Given the description of an element on the screen output the (x, y) to click on. 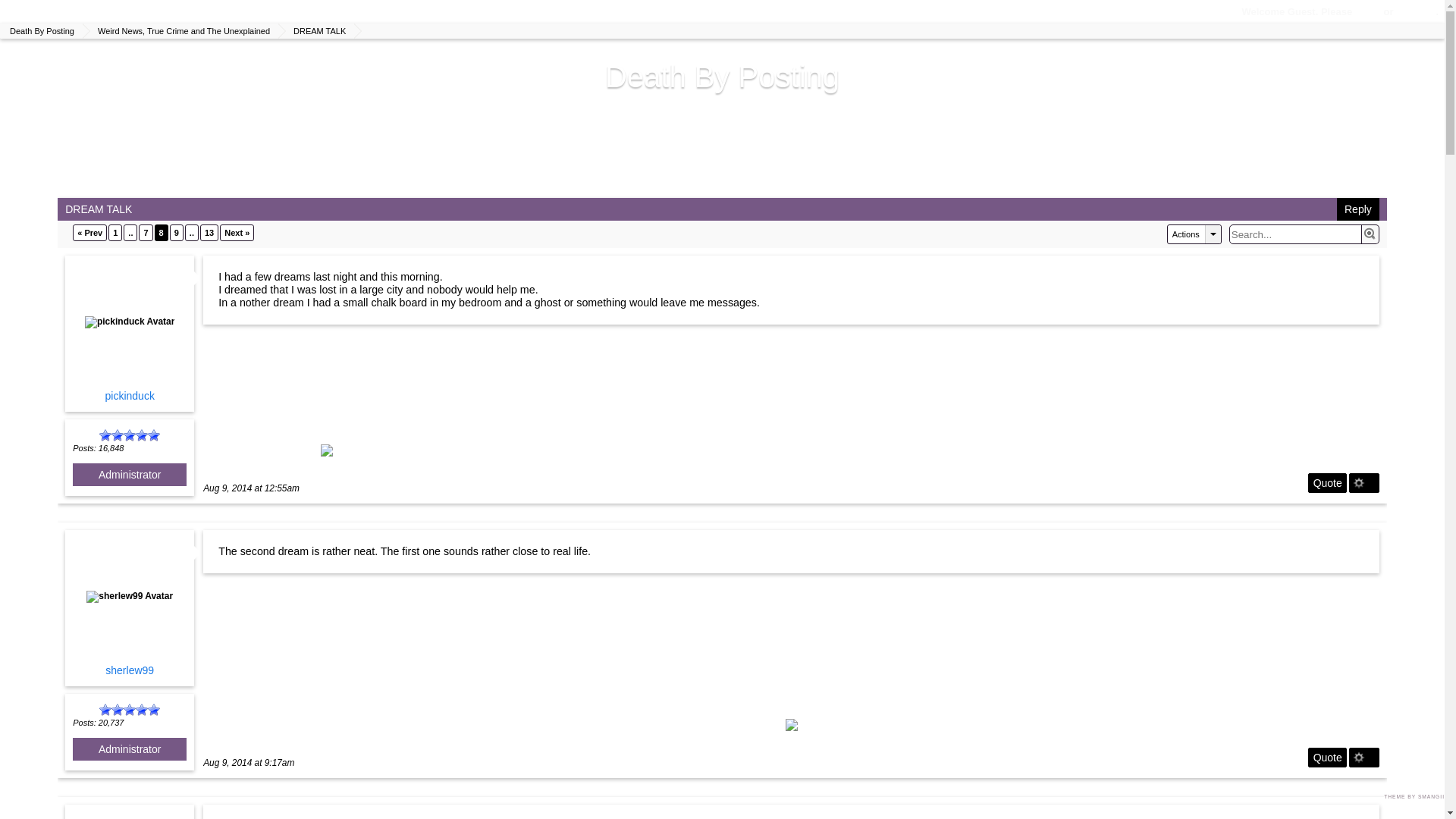
DREAM TALK (317, 30)
Post Options (1358, 482)
sherlew99 (129, 816)
sherlew99 (129, 596)
Login (1367, 10)
pickinduck (129, 322)
Death By Posting (40, 30)
News From The Spirit World (85, 11)
Forums (193, 11)
